Given the description of an element on the screen output the (x, y) to click on. 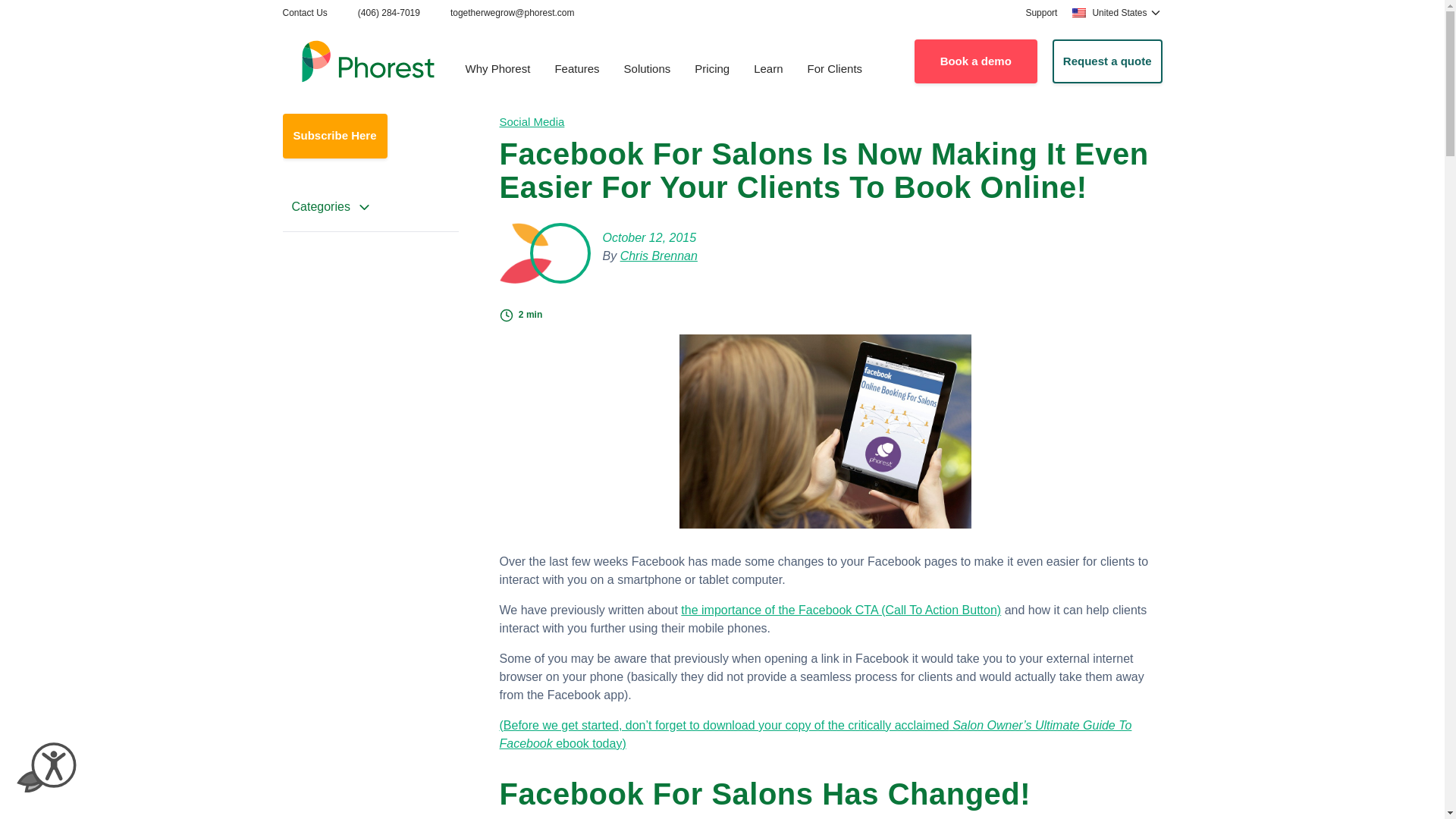
Features (576, 69)
Contact Us (304, 12)
Why Phorest (497, 69)
Support (1041, 12)
